Given the description of an element on the screen output the (x, y) to click on. 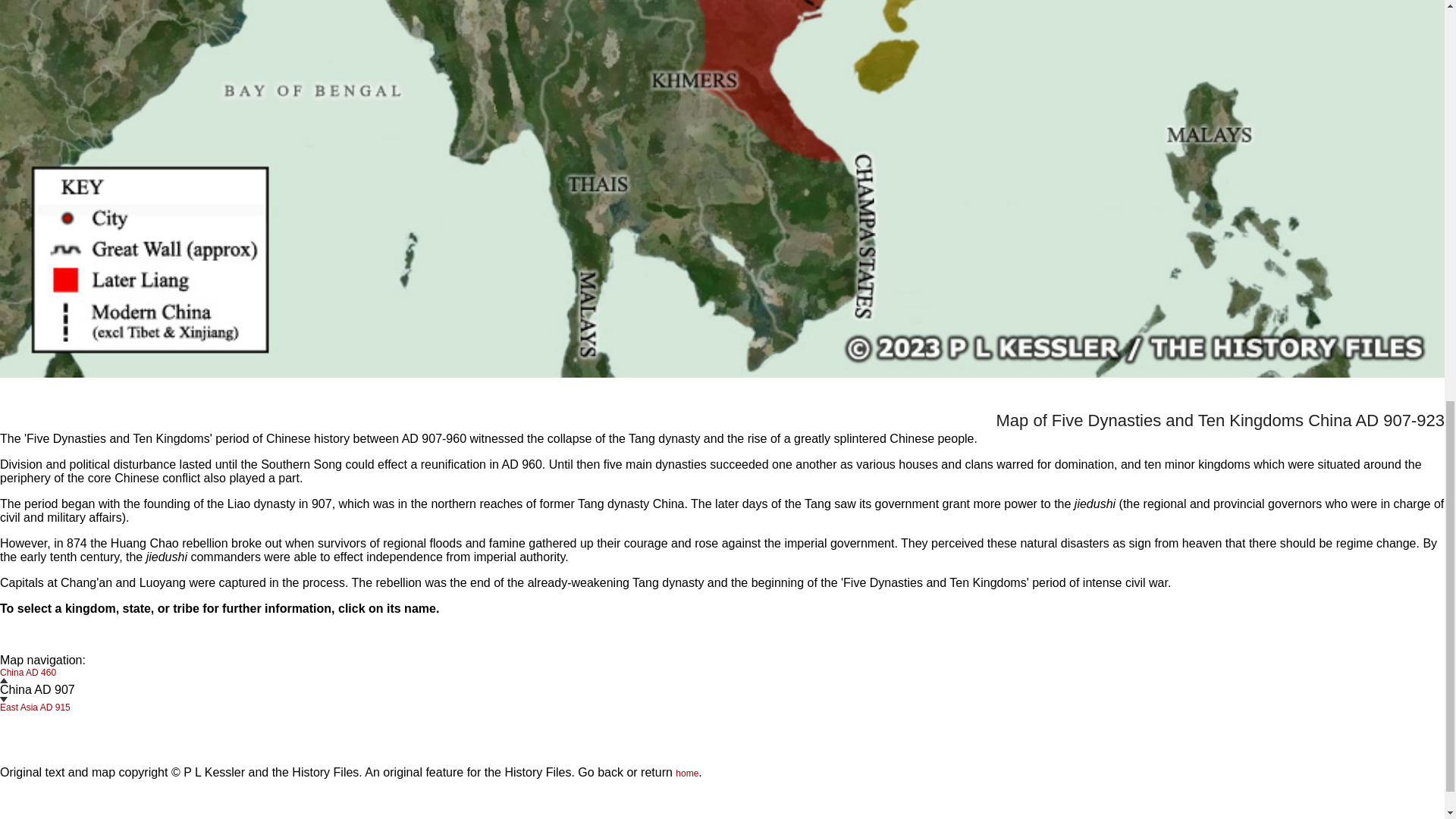
Skip backwards (3, 680)
back (609, 771)
home (686, 773)
Skip forwards (3, 698)
East Asia AD 915 (34, 702)
China AD 460 (28, 676)
